Given the description of an element on the screen output the (x, y) to click on. 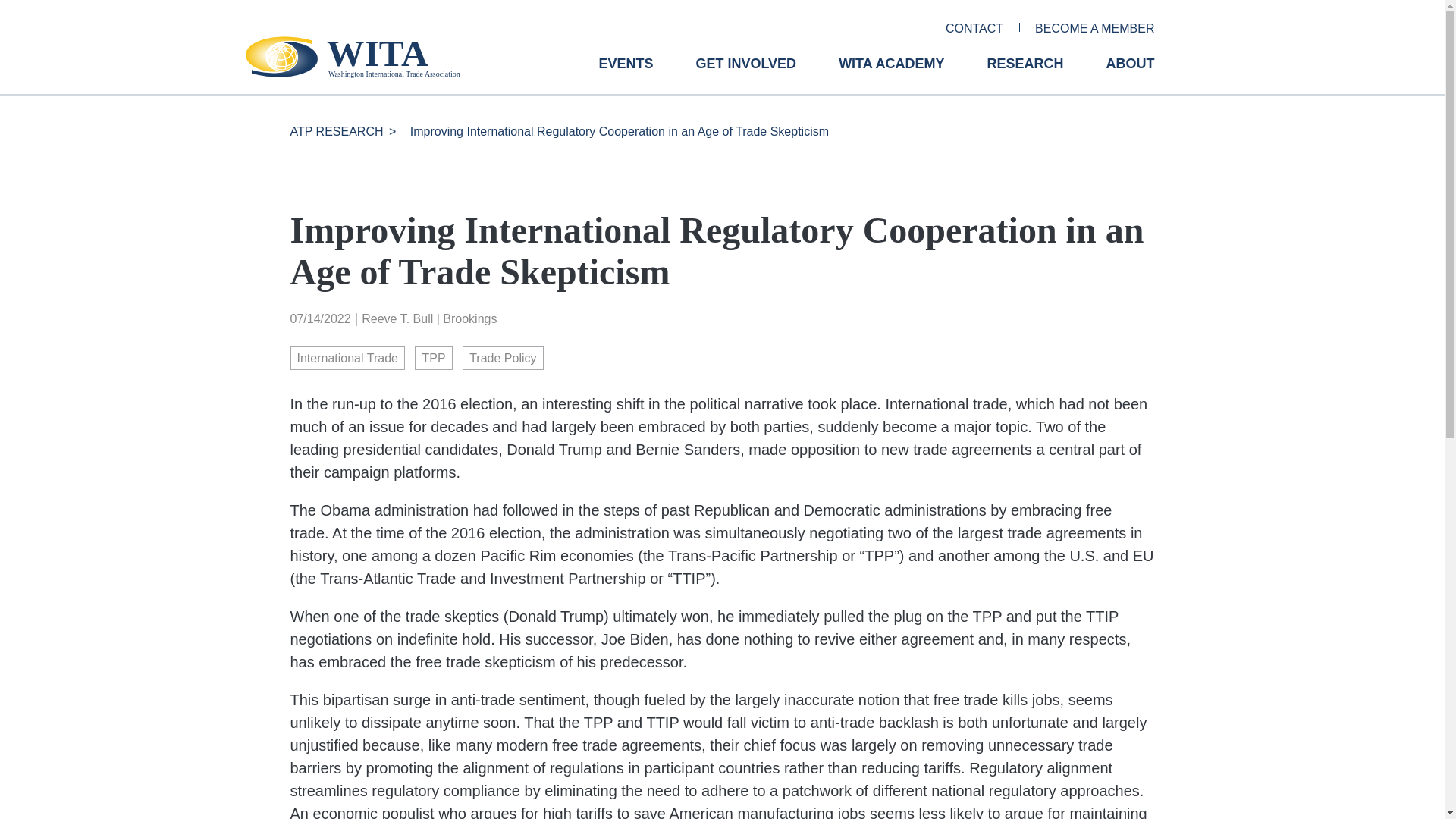
BECOME A MEMBER (1094, 28)
RESEARCH (1024, 75)
ATP RESEARCH (335, 131)
Search (19, 6)
EVENTS (625, 75)
WITA ACADEMY (890, 75)
GET INVOLVED (745, 75)
CONTACT (973, 28)
